Given the description of an element on the screen output the (x, y) to click on. 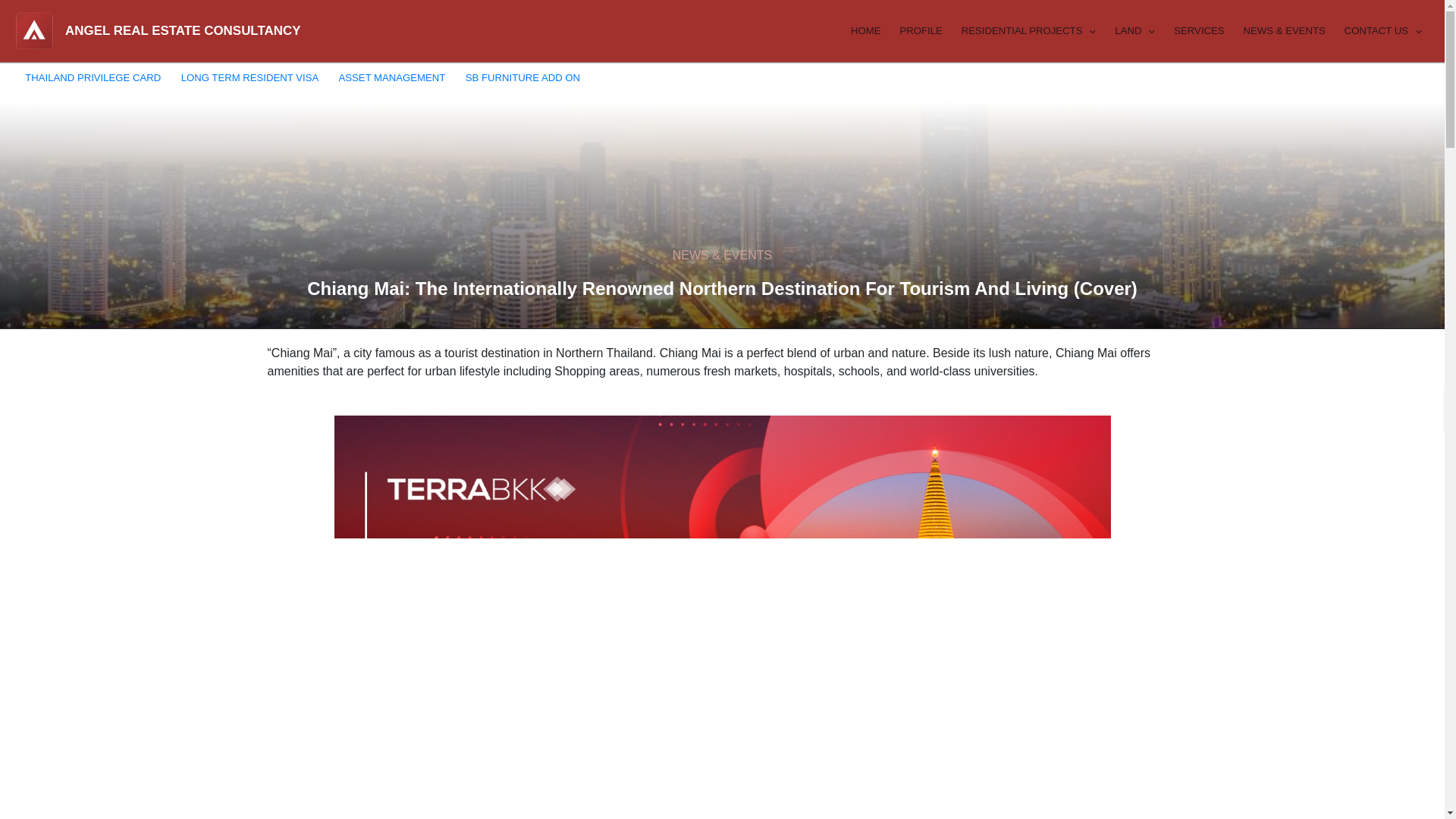
THAILAND PRIVILEGE CARD (92, 77)
CONTACT US (1381, 30)
LONG TERM RESIDENT VISA (249, 77)
GET A INQUIRY (1387, 79)
SB FURNITURE ADD ON (523, 77)
ASSET MANAGEMENT (391, 77)
PROFILE (919, 30)
RESIDENTIAL PROJECTS (1026, 30)
HOME (864, 30)
SERVICES (1196, 30)
